Given the description of an element on the screen output the (x, y) to click on. 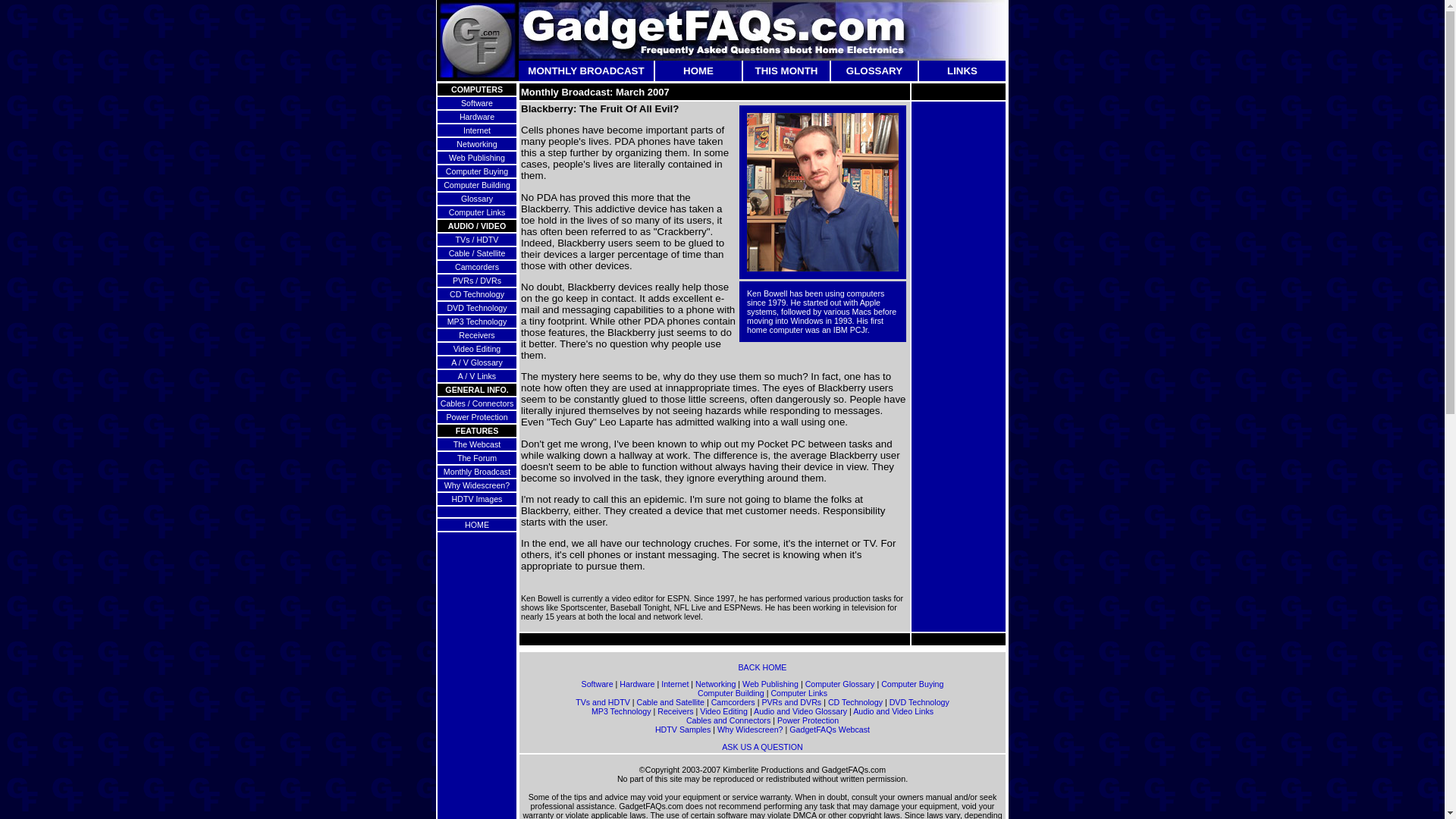
Glossary (477, 198)
Web Publishing (476, 157)
Click here for a glossary of terms (873, 70)
Click here for information about Tvs and HDTV. (477, 239)
Hardware (636, 683)
Networking (476, 143)
Computer Links (476, 212)
The Forum (476, 457)
Click here for links to other sites. (961, 70)
Software (596, 683)
Click here for information about MP3 technology. (476, 320)
Click here for hardware information. (477, 116)
THIS MONTH (786, 70)
Click here for networking information. (476, 143)
GLOSSARY (873, 70)
